Given the description of an element on the screen output the (x, y) to click on. 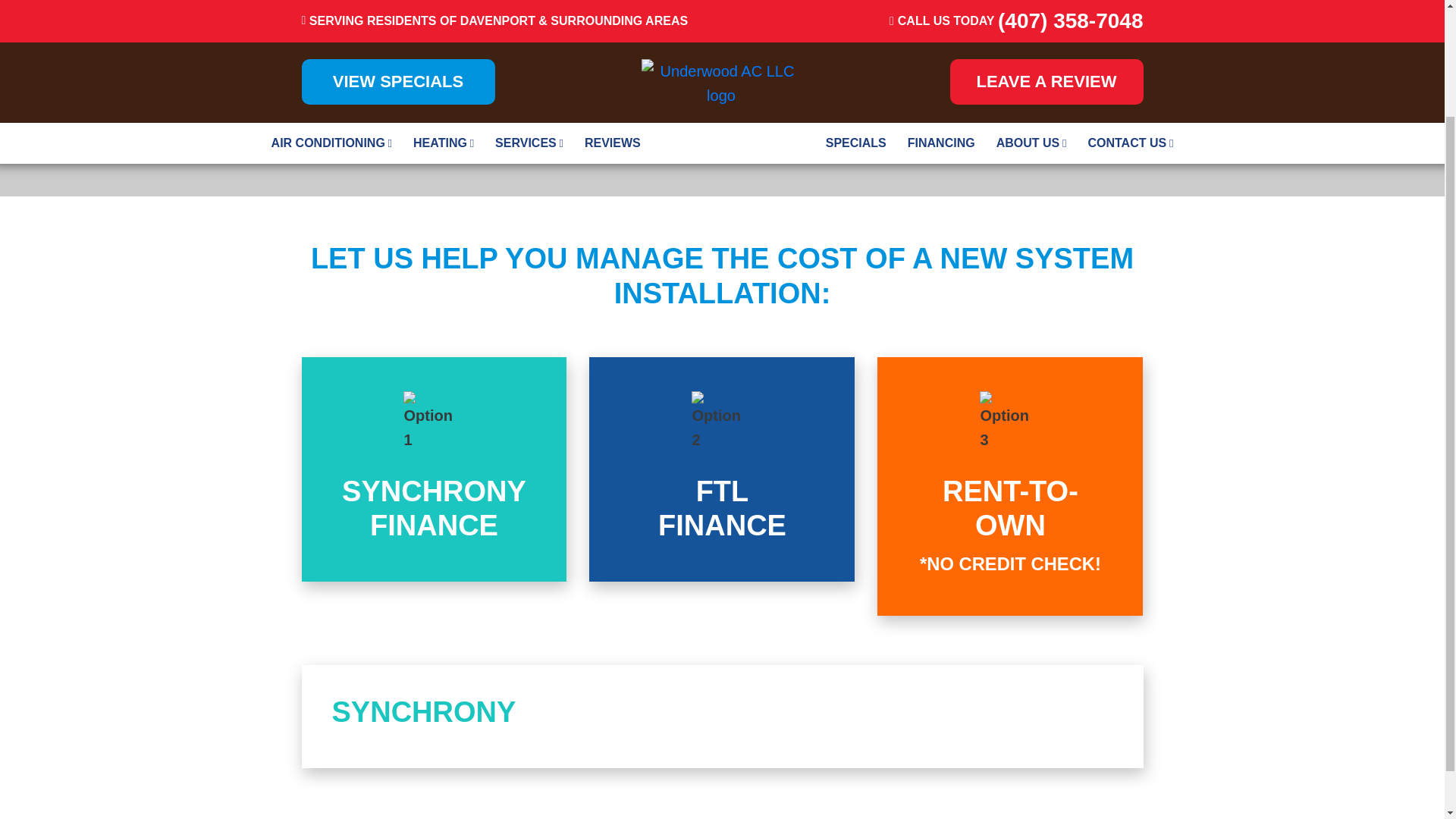
AIR CONDITIONING (331, 15)
ABOUT US (1031, 15)
FINANCING (940, 15)
SPECIALS (721, 469)
HEATING (721, 469)
SERVICES (434, 469)
CONTACT US (855, 15)
REVIEWS (443, 15)
